Given the description of an element on the screen output the (x, y) to click on. 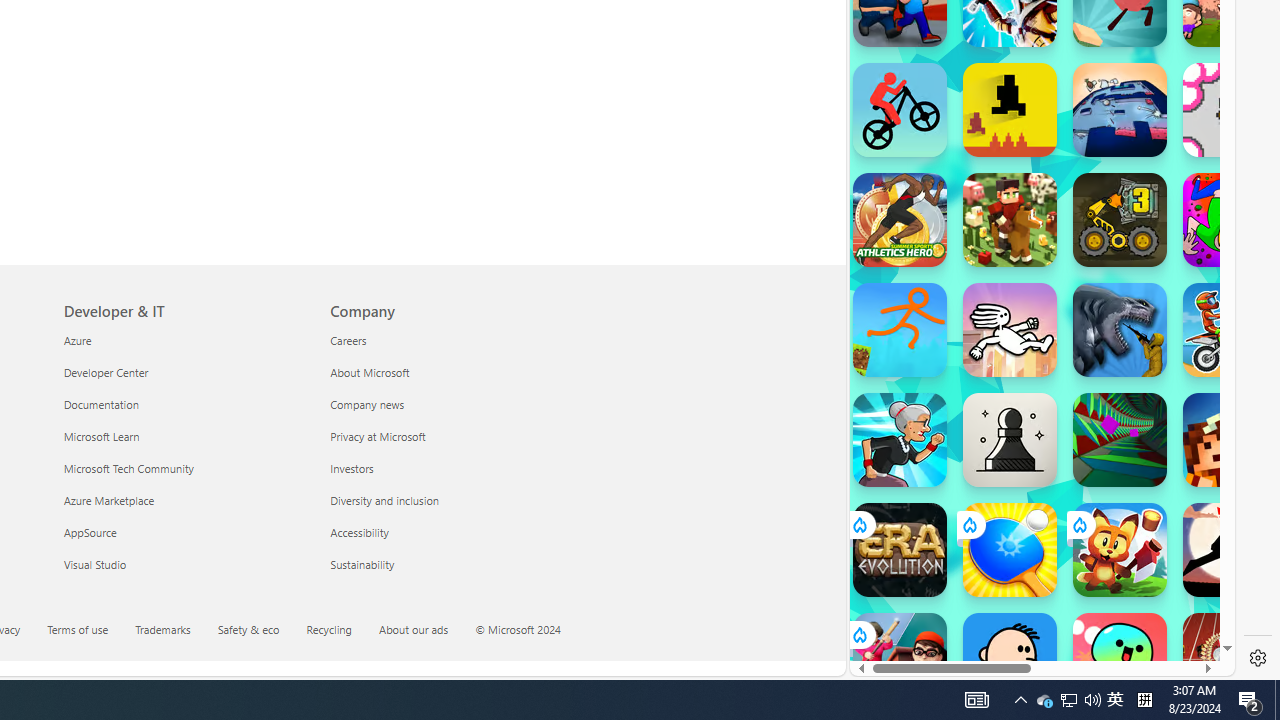
Level Devil (1009, 109)
Safety & eco (248, 628)
Diversity and inclusion Company (385, 499)
SUBWAY SURFERS - Play Online for Free! | Poki (1034, 624)
Combat Reloaded (1092, 200)
Lurkers.io (1229, 439)
Investors Company (351, 467)
Big Tower Tiny Square (1119, 109)
About our ads (425, 631)
Company news Company (367, 403)
Blumgi Slime Blumgi Slime (1119, 659)
Into the Pit (1229, 109)
Hills of Steel (925, 290)
Azure Marketplace Developer & IT (108, 499)
